Given the description of an element on the screen output the (x, y) to click on. 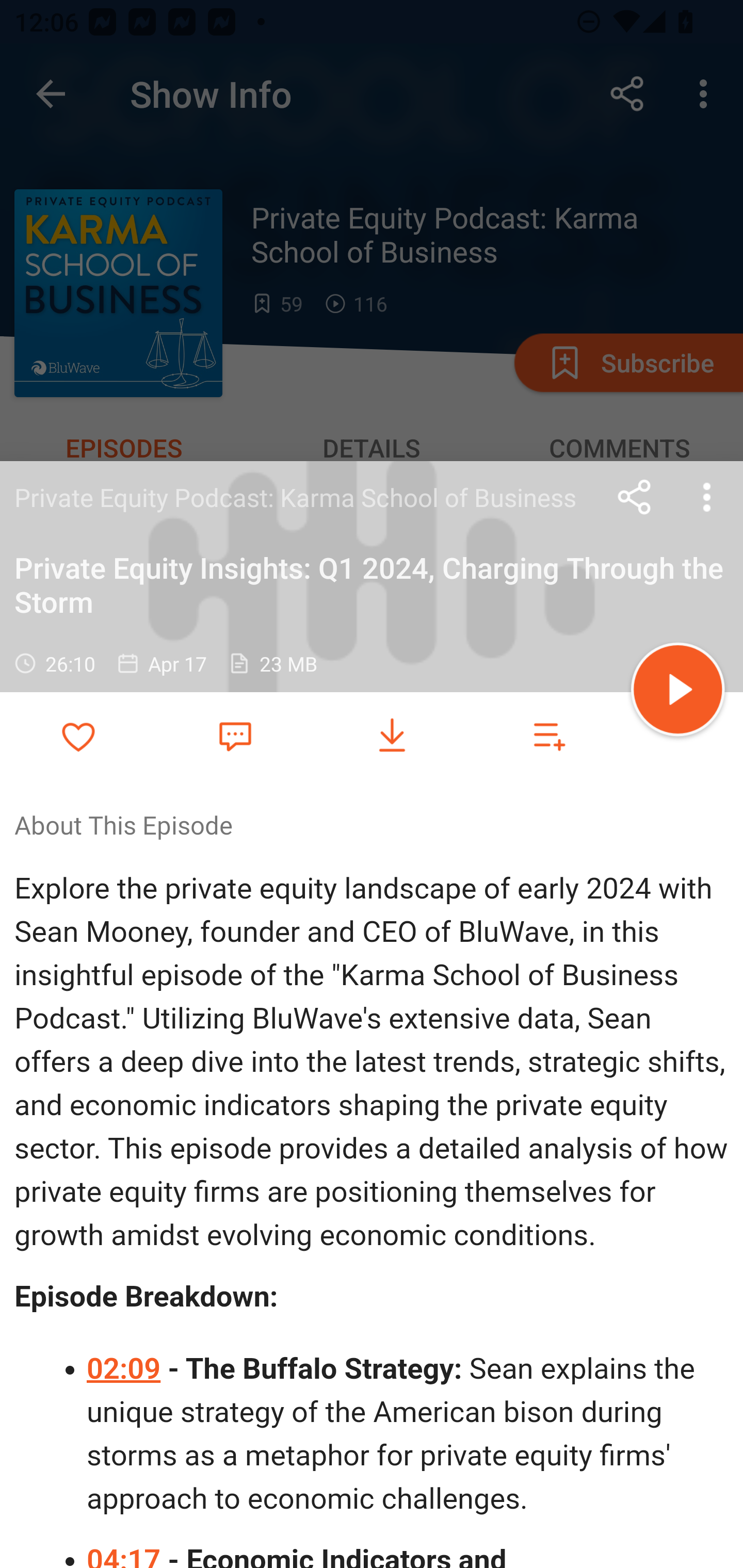
Share (634, 496)
more options (706, 496)
Play (677, 692)
Favorite (234, 735)
Add to Favorites (78, 735)
Download (391, 735)
Add to playlist (548, 735)
02:09 (124, 1369)
